Given the description of an element on the screen output the (x, y) to click on. 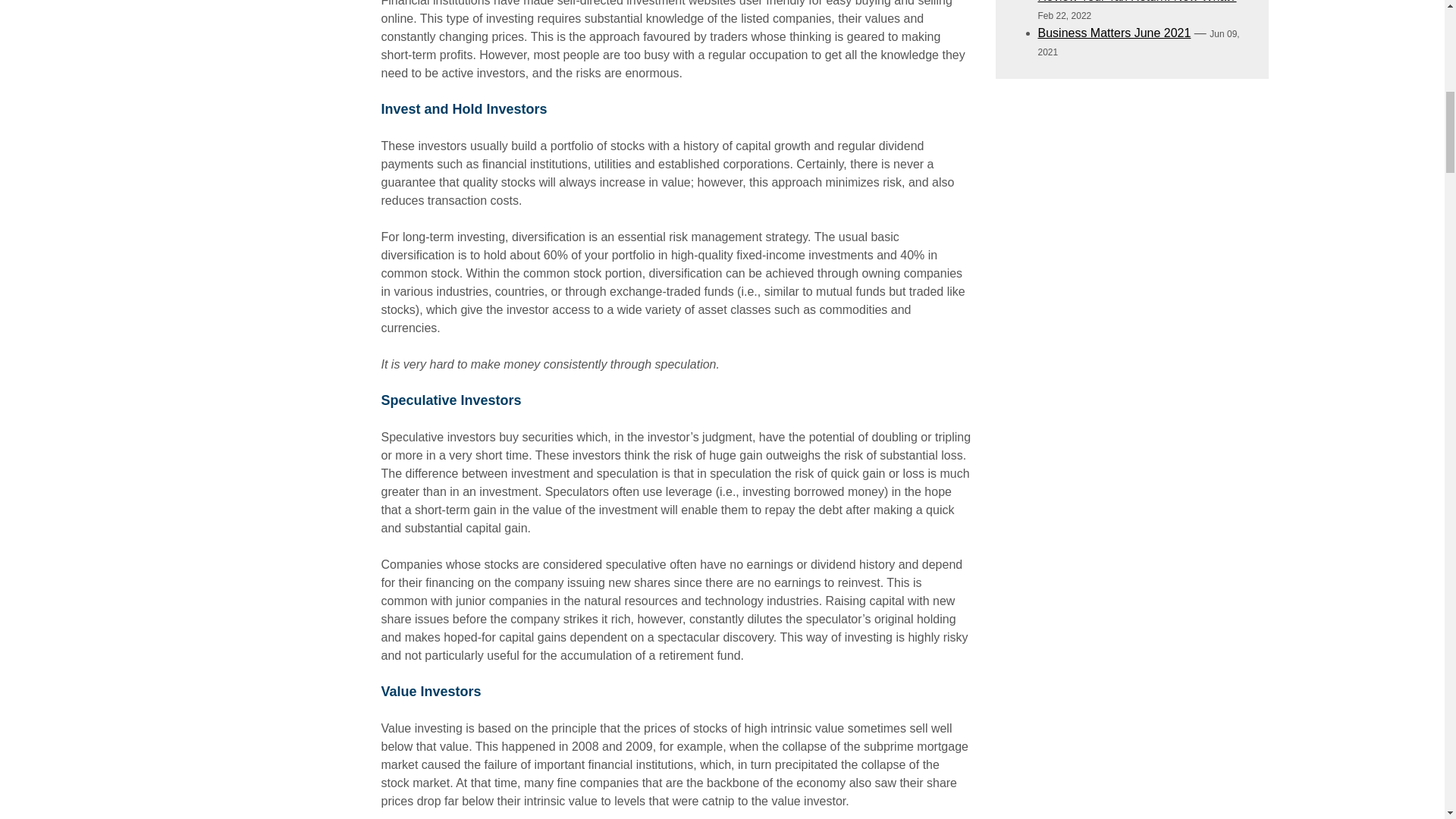
Business Matters June 2021 (1113, 32)
